Given the description of an element on the screen output the (x, y) to click on. 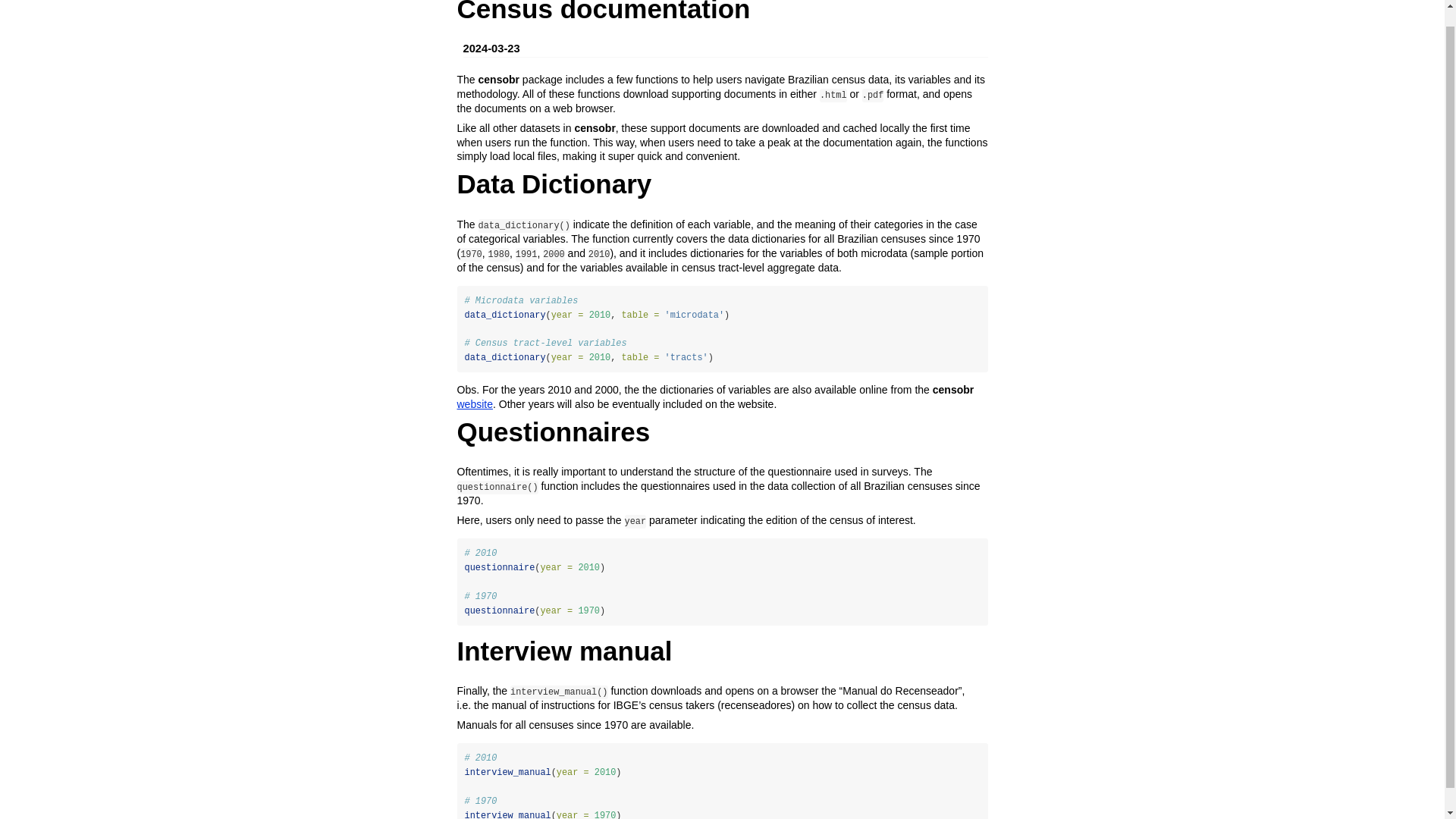
website (474, 404)
